Given the description of an element on the screen output the (x, y) to click on. 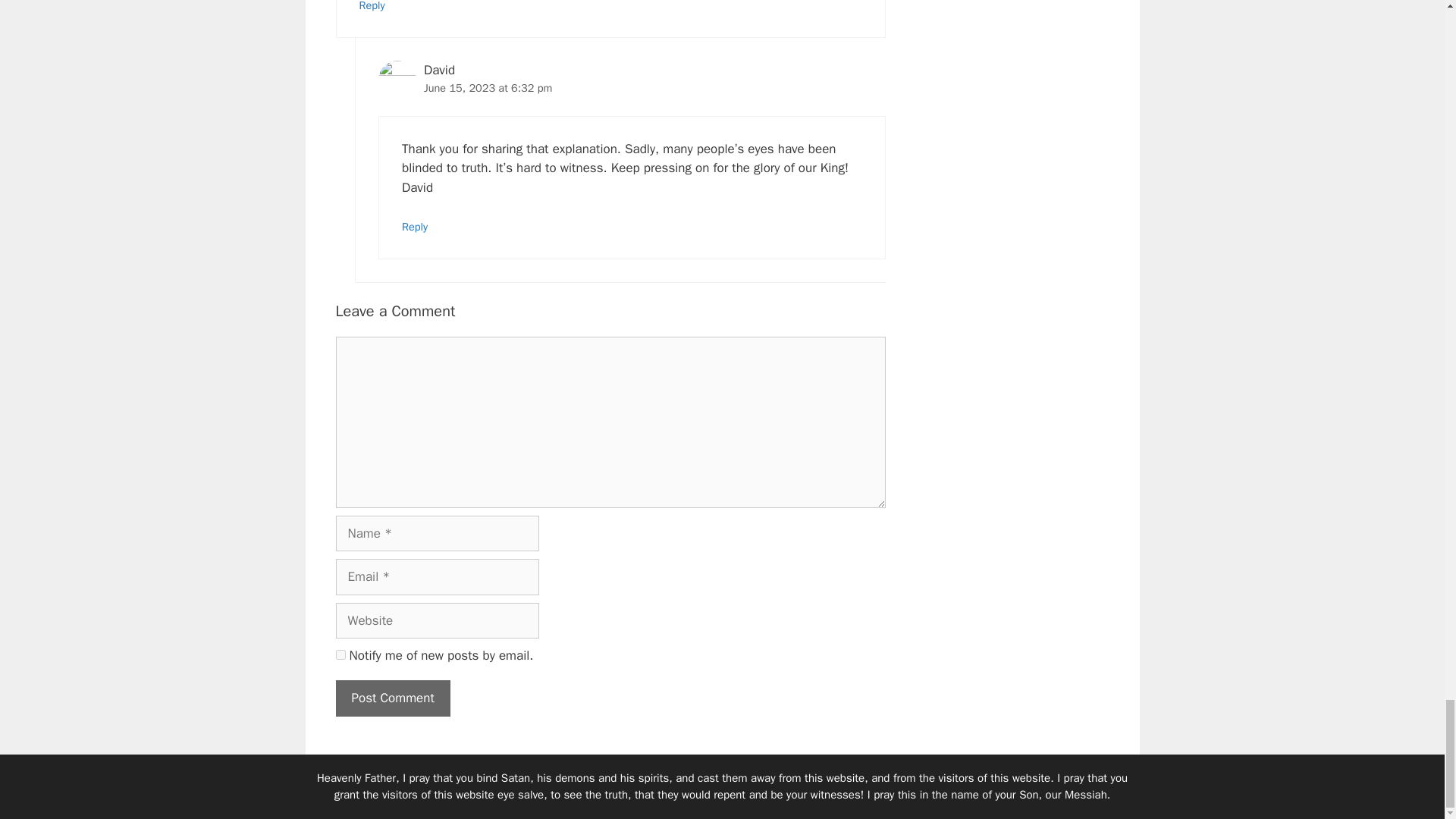
June 15, 2023 at 6:32 pm (487, 88)
Post Comment (391, 698)
Post Comment (391, 698)
Reply (372, 6)
Reply (414, 226)
subscribe (339, 655)
